Given the description of an element on the screen output the (x, y) to click on. 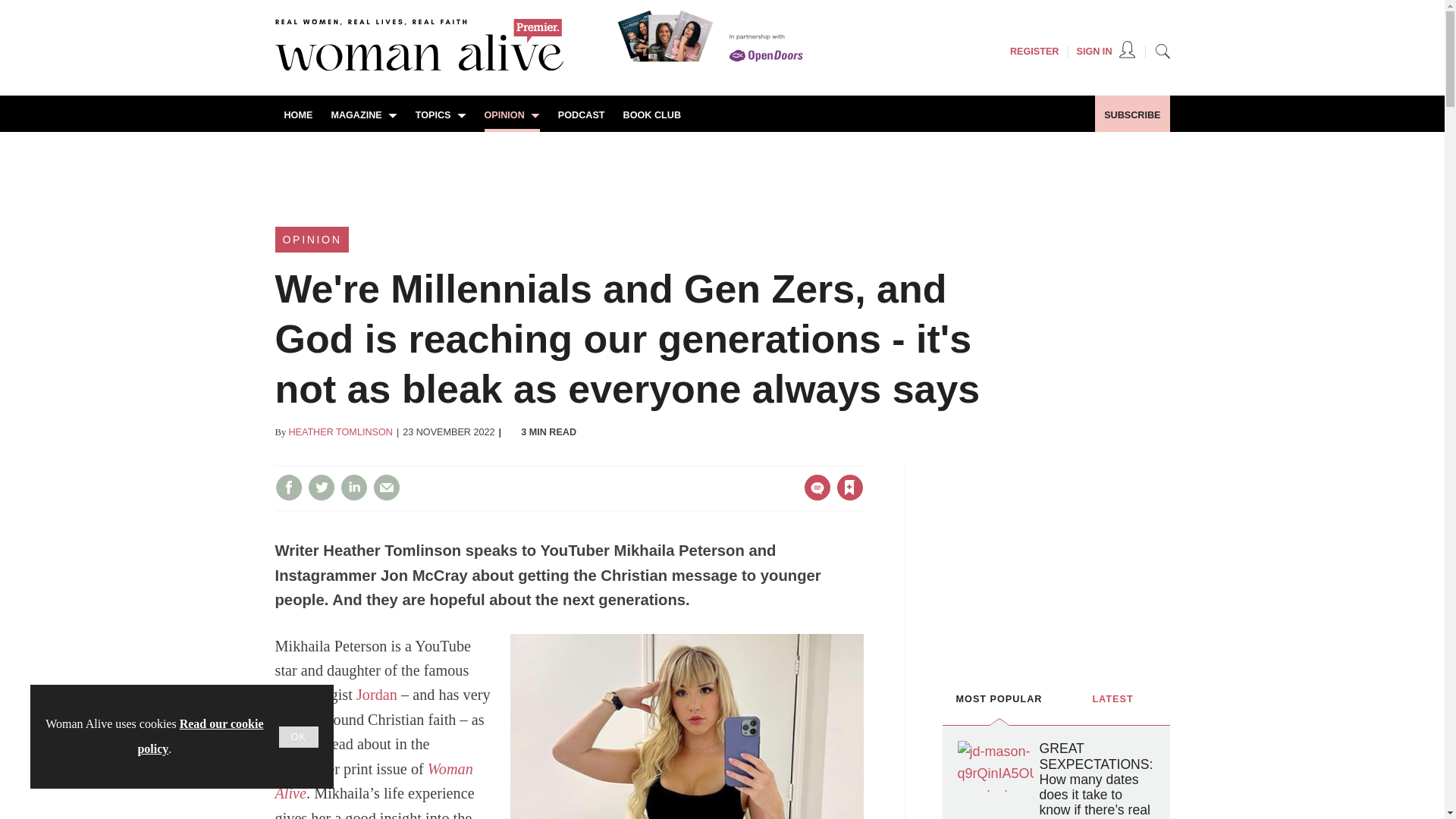
Share this on Linked in (352, 487)
Email this article (386, 487)
OK (298, 736)
SIGN IN (1106, 51)
REGISTER (1034, 51)
Share this on Facebook (288, 487)
No comments (812, 496)
SEARCH (1161, 50)
Read our cookie policy (199, 735)
Site name (418, 66)
Share this on Twitter (320, 487)
